Given the description of an element on the screen output the (x, y) to click on. 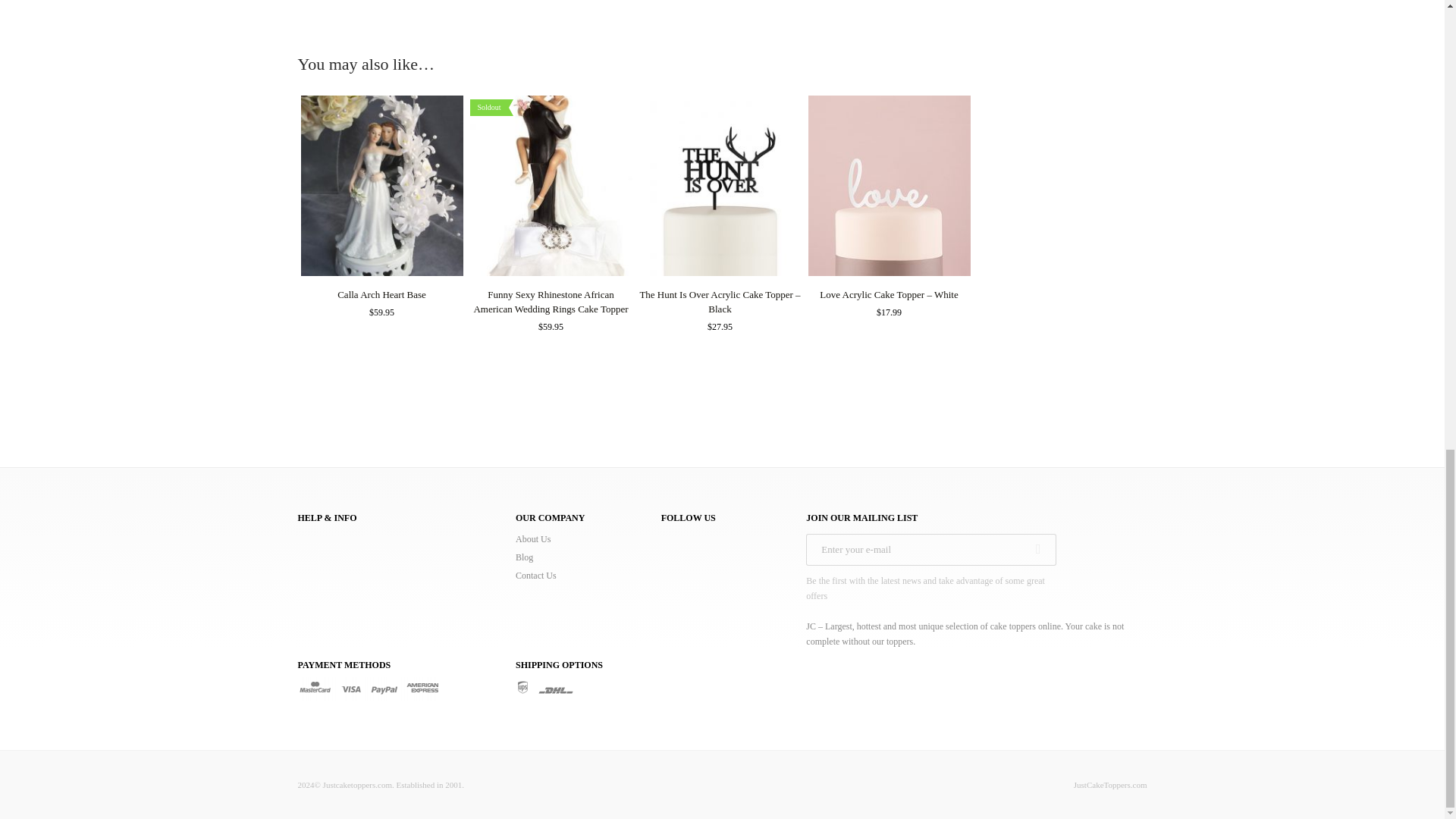
Payment options (369, 689)
Shipping options (545, 689)
